Given the description of an element on the screen output the (x, y) to click on. 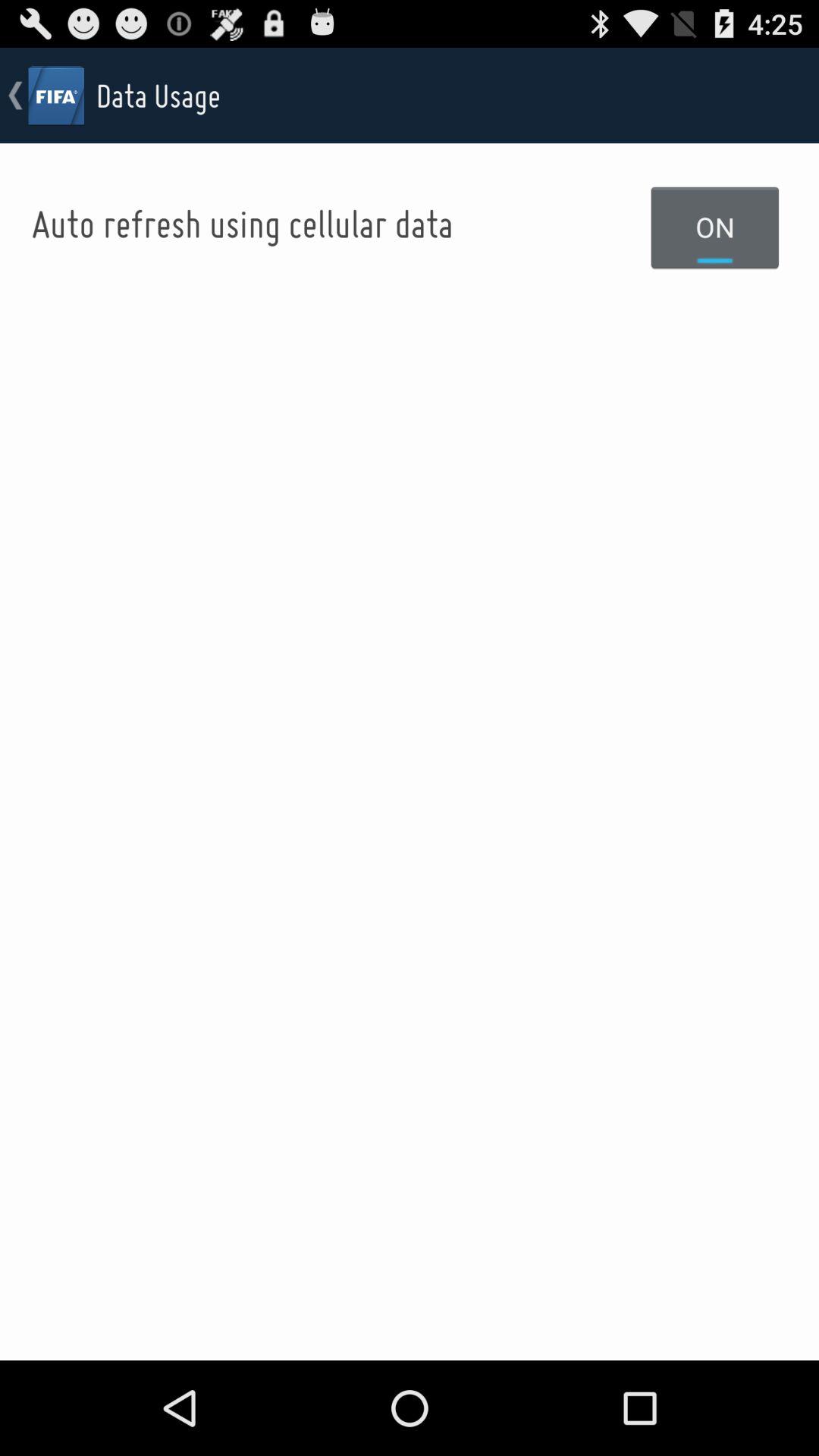
launch the icon next to the auto refresh using item (714, 226)
